Given the description of an element on the screen output the (x, y) to click on. 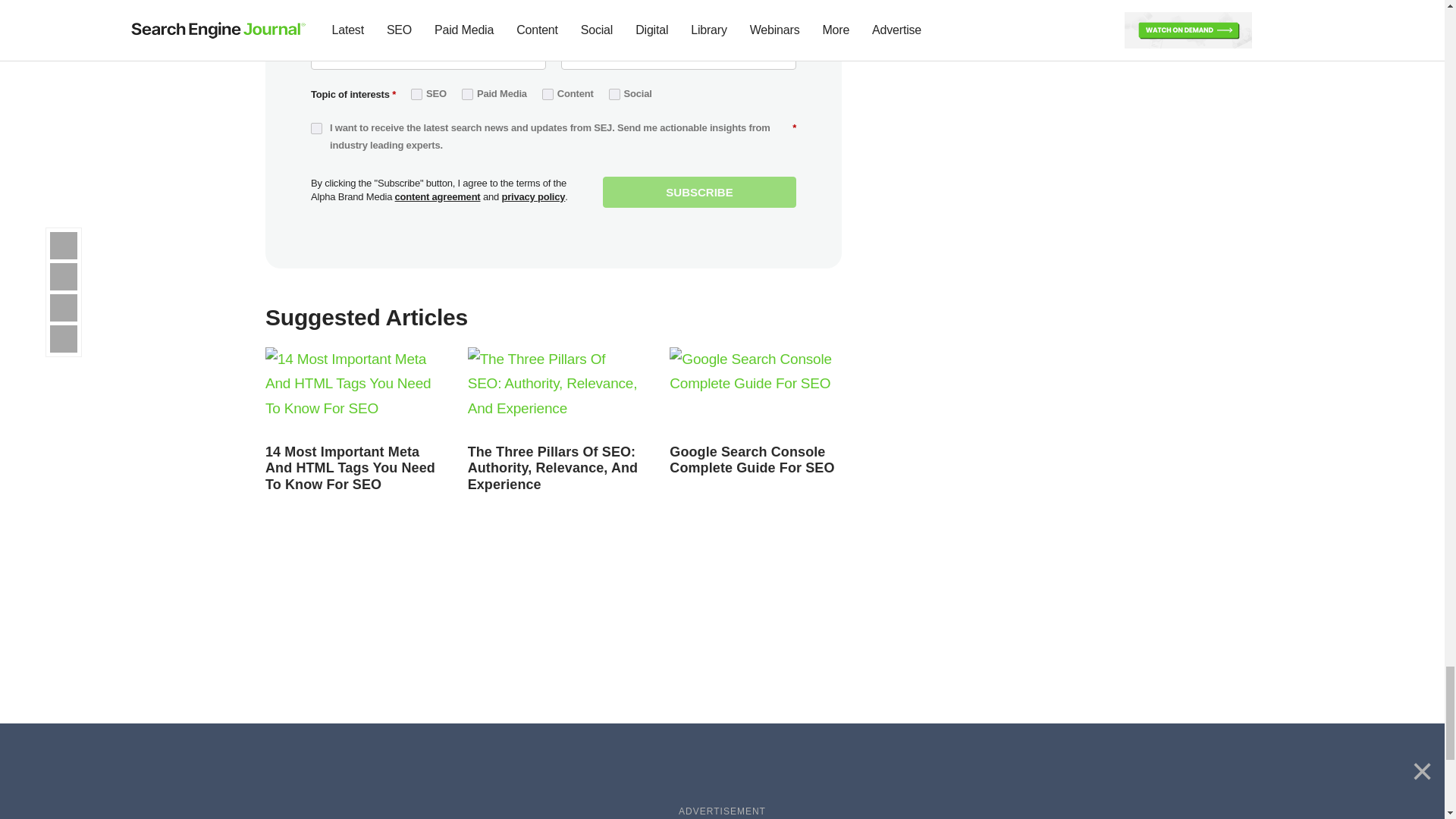
Read the Article (755, 391)
Read the Article (553, 391)
Read the Article (351, 391)
Read the Article (751, 459)
Read the Article (553, 468)
Read the Article (349, 468)
